Given the description of an element on the screen output the (x, y) to click on. 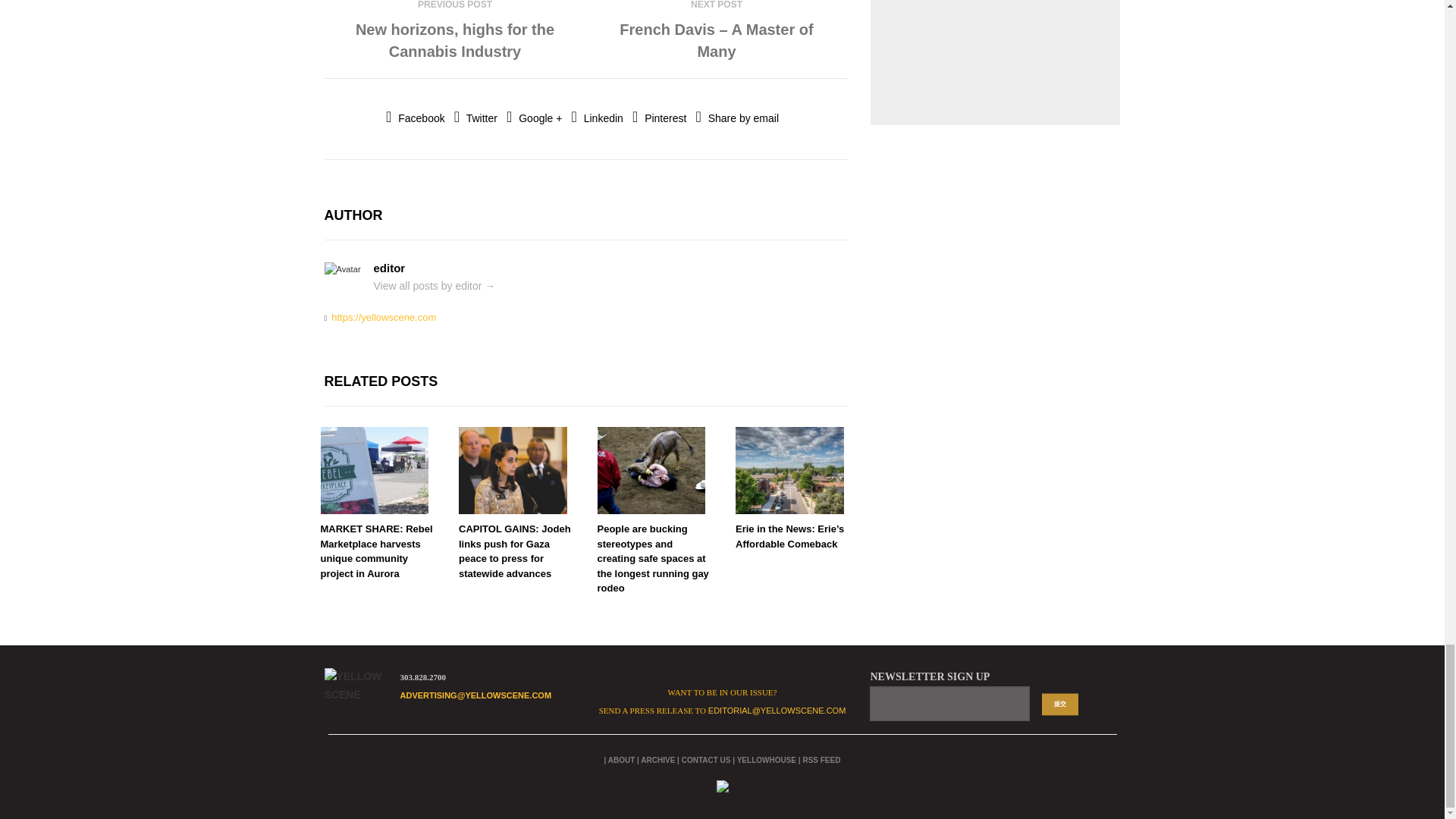
Share this post on Google Plus! (534, 118)
Share this post on Twitter! (475, 118)
Share by email (736, 118)
Share this post on Linkedin! (597, 118)
Share this post on Facebook! (415, 118)
Share on Pinterest (658, 118)
